Given the description of an element on the screen output the (x, y) to click on. 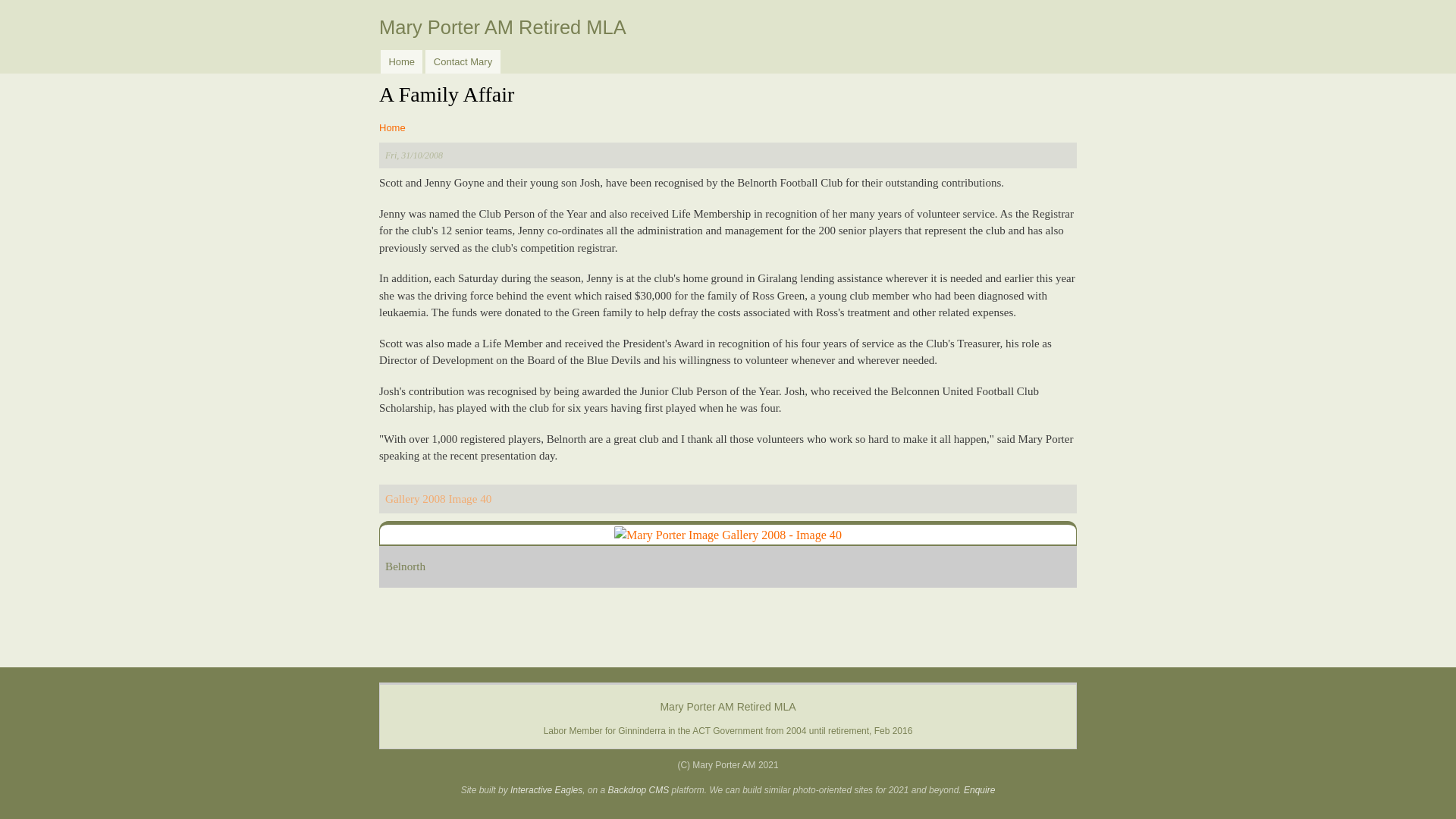
Gallery 2008 Image 40 (727, 535)
Backdrop CMS (638, 789)
Gallery 2008 Image 40 (438, 498)
Home (502, 26)
Home (401, 61)
Enquire (978, 789)
Contact Mary (462, 61)
Interactive Eagles (546, 789)
Mary Porter AM Retired MLA (502, 26)
Home (392, 127)
Skip to main content (724, 1)
